Given the description of an element on the screen output the (x, y) to click on. 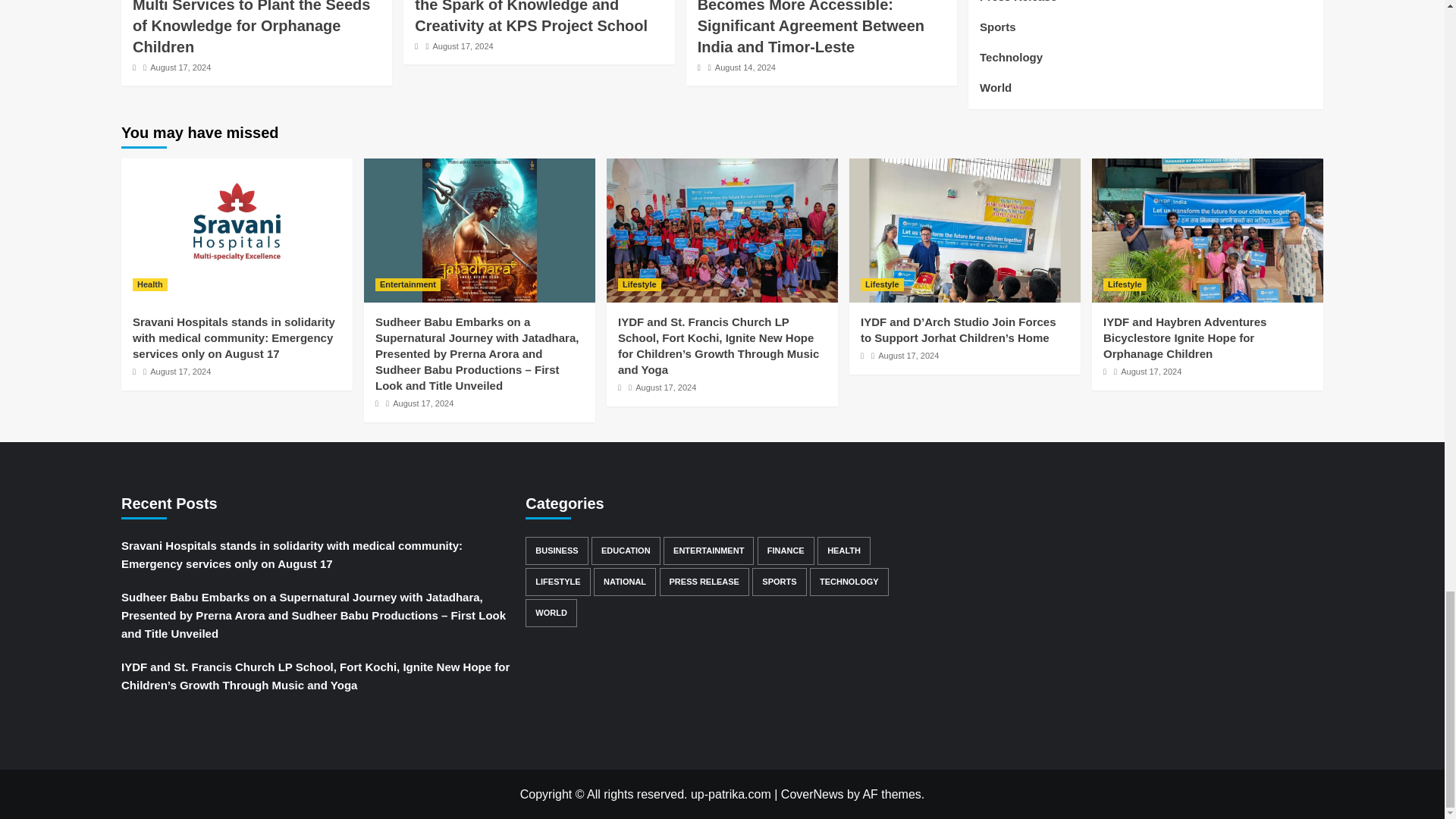
August 17, 2024 (462, 45)
August 17, 2024 (180, 67)
